Given the description of an element on the screen output the (x, y) to click on. 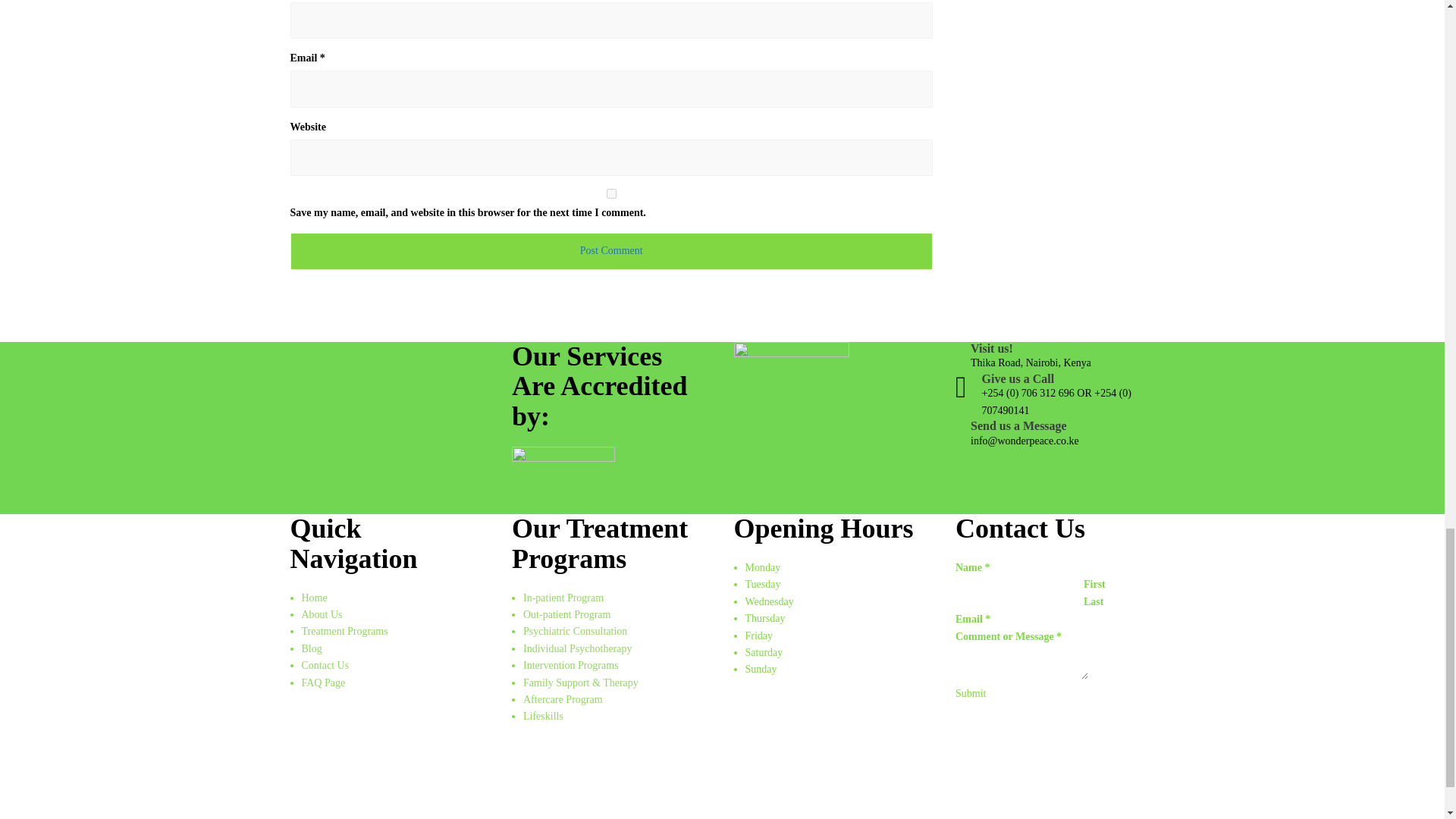
About Us (321, 614)
Our Services Are Accredited by (563, 480)
Home (314, 597)
yes (611, 194)
Post Comment (611, 250)
Post Comment (611, 250)
Facebook Page Plugin (833, 760)
Treatment Programs (344, 631)
